Given the description of an element on the screen output the (x, y) to click on. 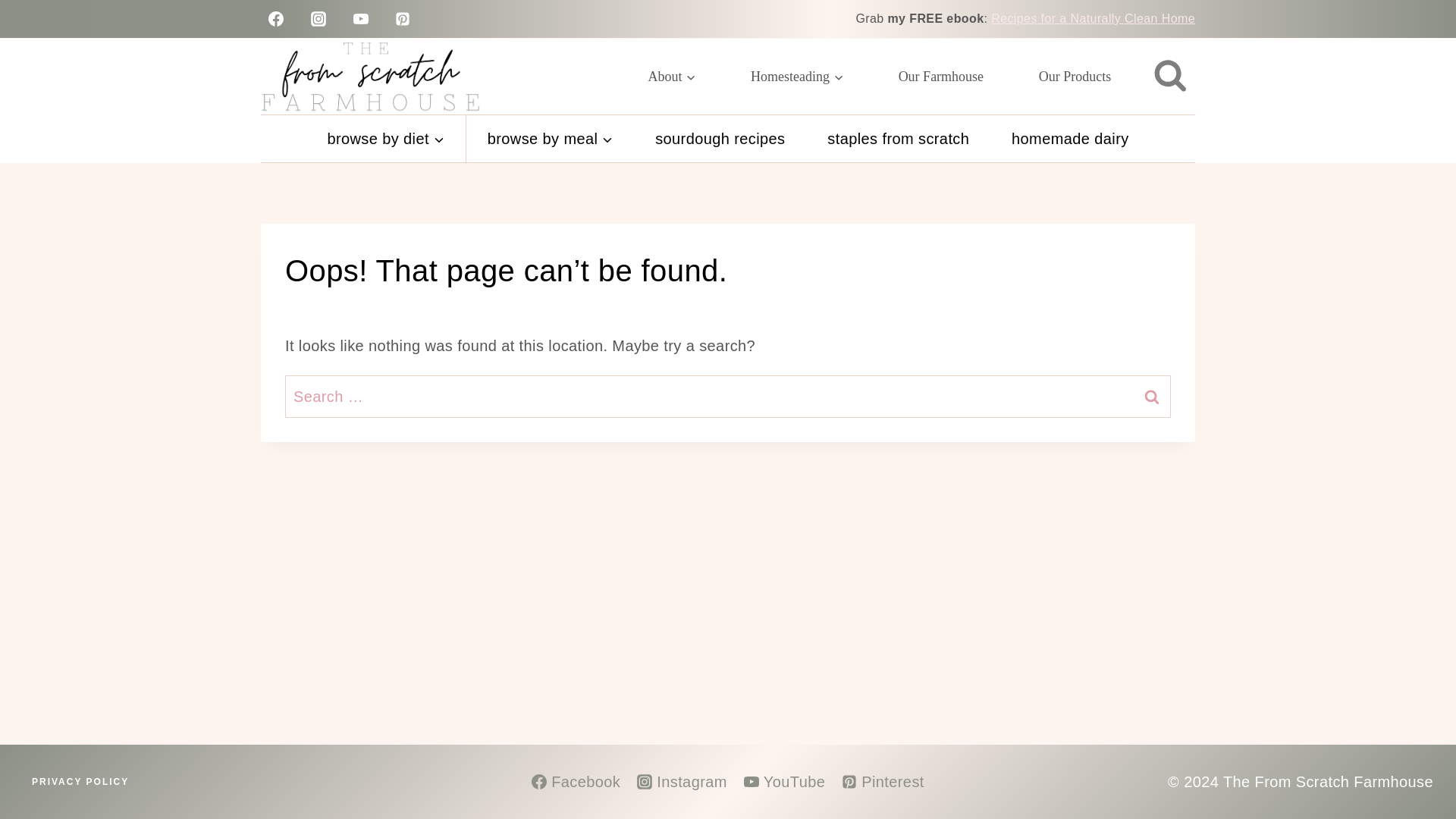
Our Products (1074, 76)
Search (1151, 396)
staples from scratch (898, 138)
PRIVACY POLICY (79, 781)
homemade dairy (1070, 138)
sourdough recipes (719, 138)
Search (1151, 396)
Search (1151, 396)
Homesteading (796, 76)
browse by diet (385, 138)
browse by meal (549, 138)
About (671, 76)
Recipes for a Naturally Clean Home (1093, 18)
Our Farmhouse (940, 76)
